Given the description of an element on the screen output the (x, y) to click on. 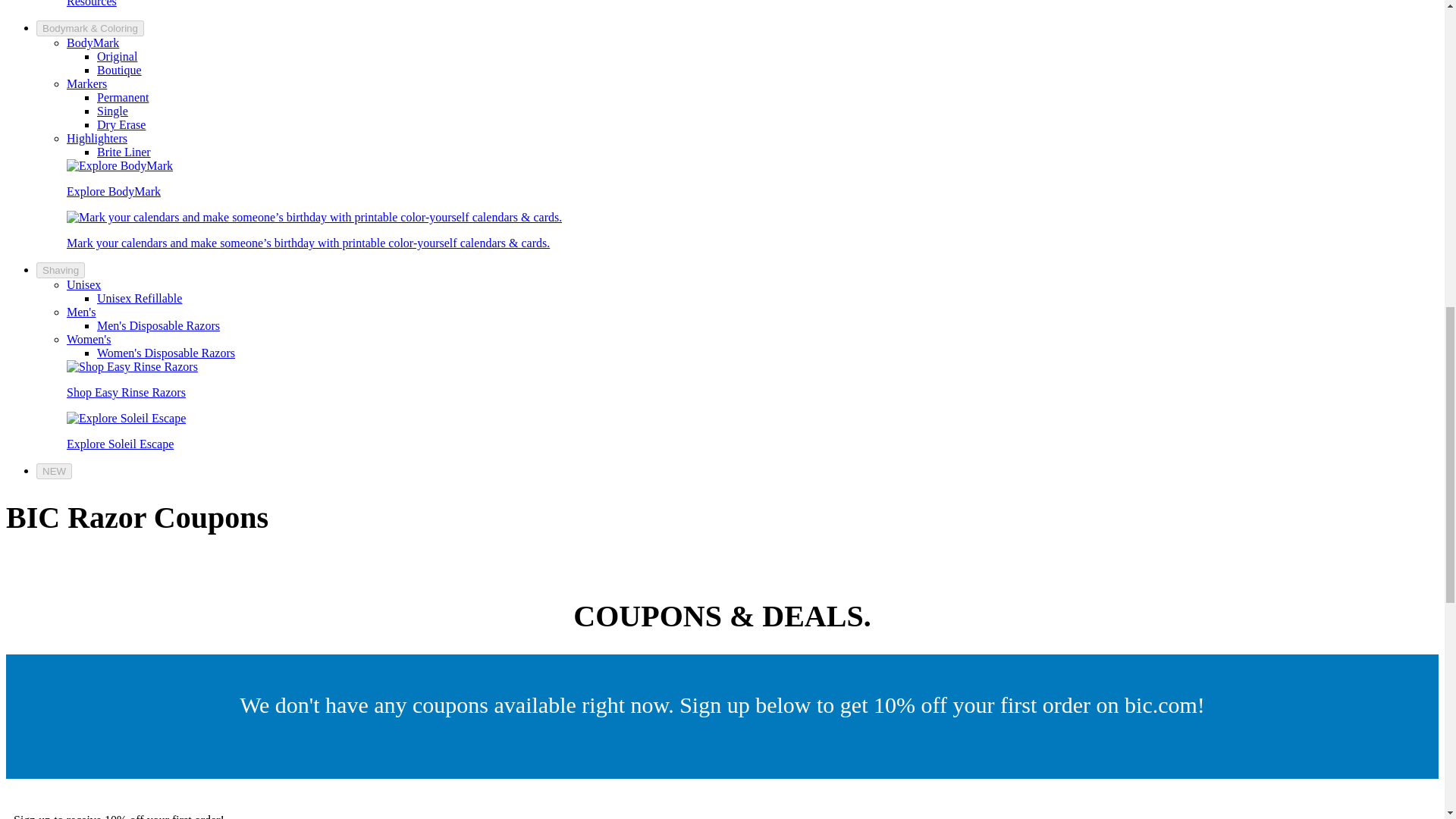
Shop Easy Rinse Razors (132, 366)
Explore BodyMark (119, 165)
Explore Soleil Escape (126, 418)
